Given the description of an element on the screen output the (x, y) to click on. 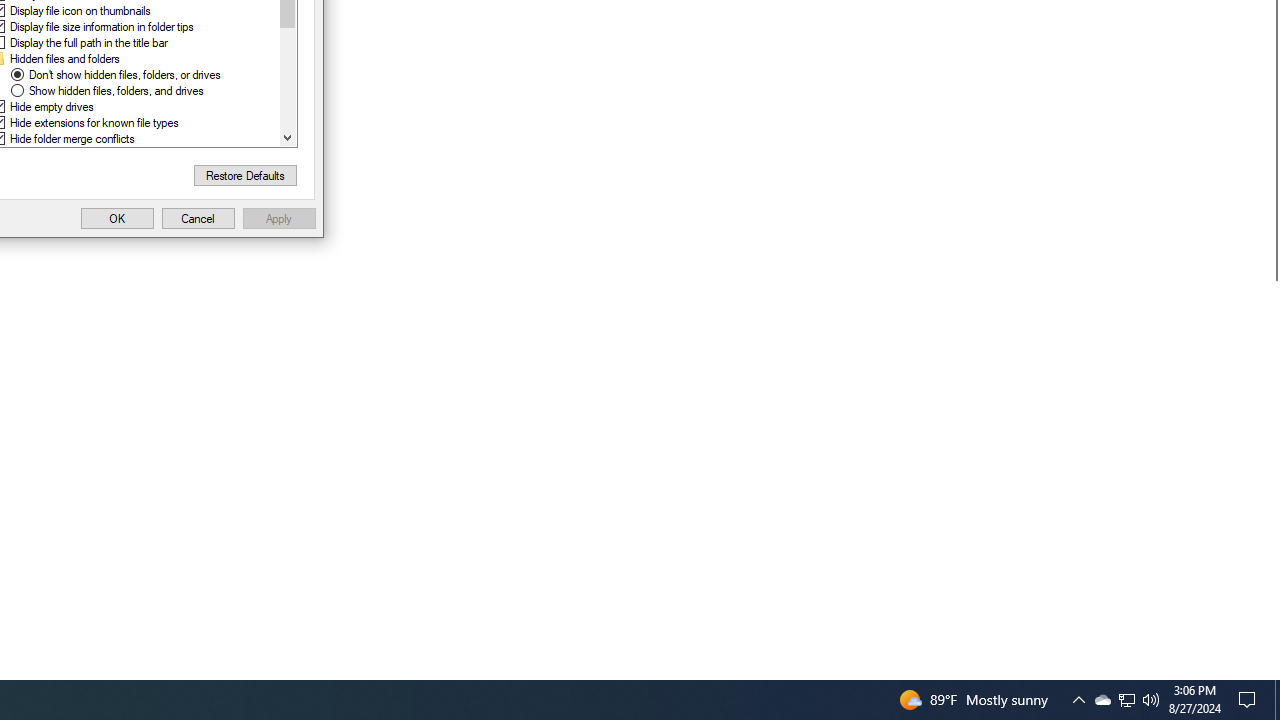
Don't show hidden files, folders, or drives (124, 74)
Hide extensions for known file types (93, 123)
Show hidden files, folders, and drives (116, 90)
Display file icon on thumbnails (80, 10)
OK (116, 218)
Page down (287, 78)
Cancel (198, 218)
Hide empty drives (51, 107)
Display file size information in folder tips (101, 26)
